Given the description of an element on the screen output the (x, y) to click on. 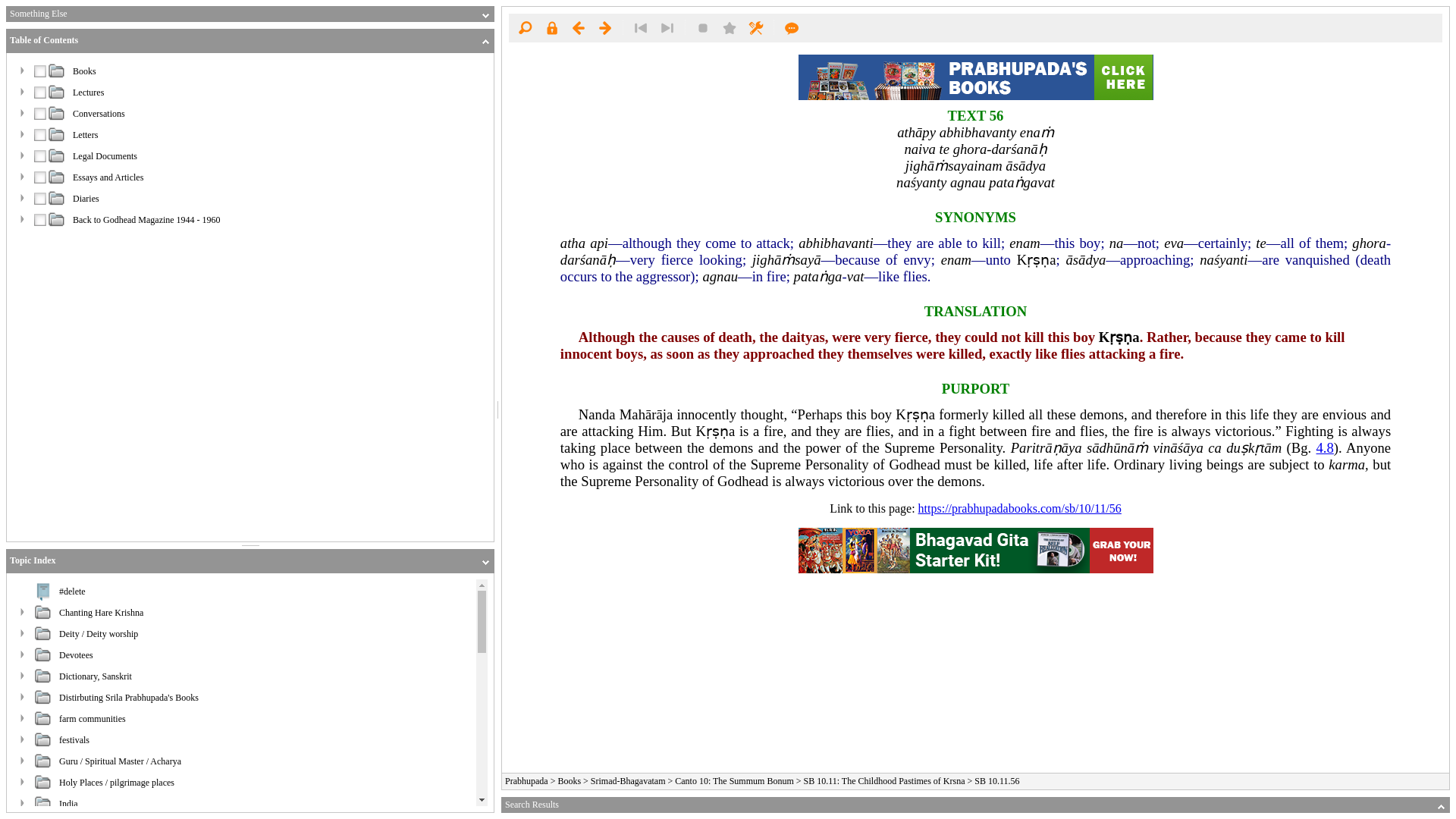
Bookmark (729, 27)
Next Search Hit (666, 27)
Highlight Text (703, 27)
Login (551, 27)
Previous Search Hit (640, 27)
Previous Document (578, 27)
Settings (755, 27)
Help (791, 27)
Search (525, 27)
Next Document (604, 27)
